Given the description of an element on the screen output the (x, y) to click on. 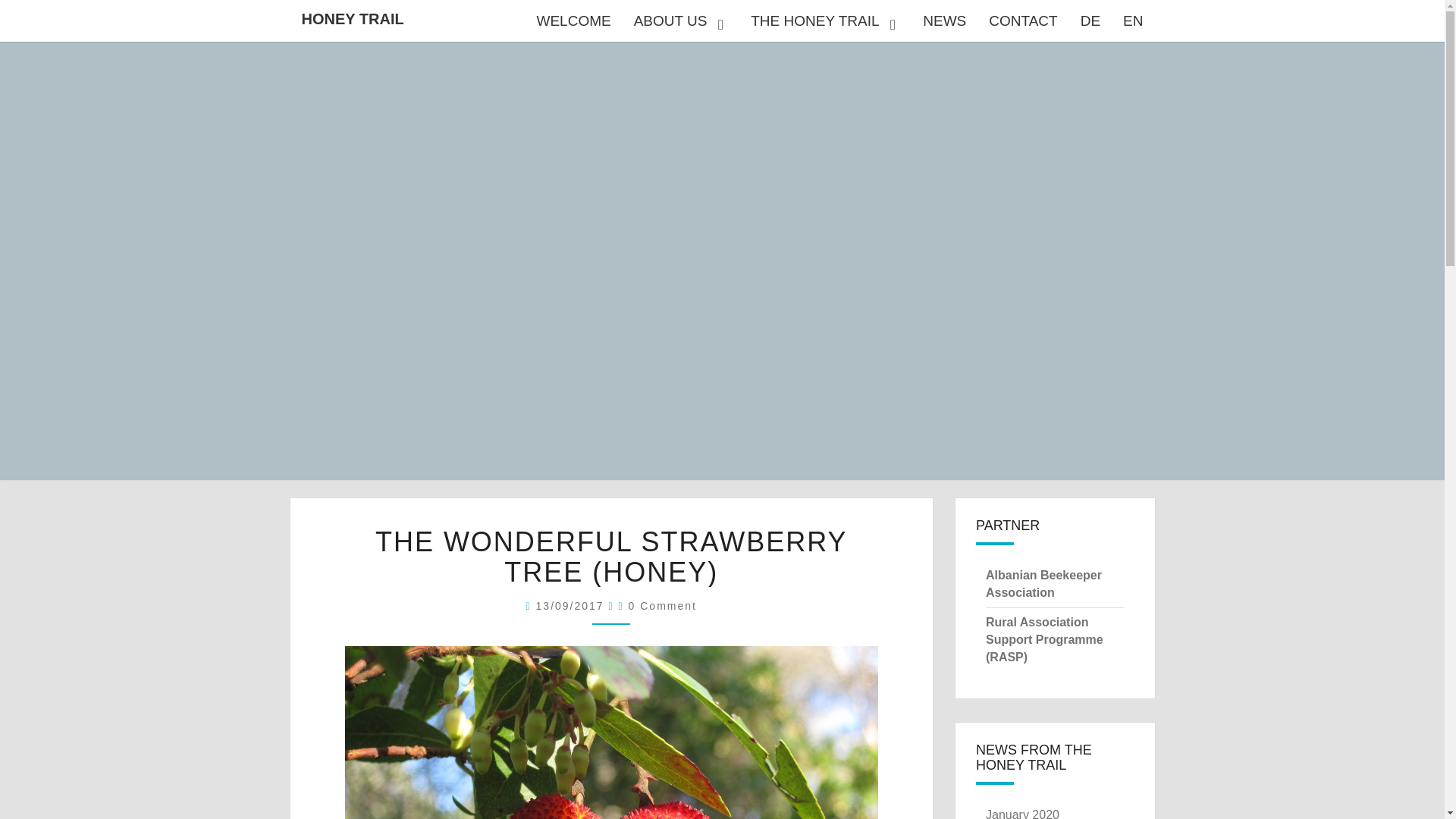
WELCOME (572, 20)
ABOUT US (681, 20)
NEWS (943, 20)
January 2020 (1022, 813)
DE (1090, 20)
0 Comment (662, 605)
THE HONEY TRAIL (825, 20)
Albanian Beekeeper Association (1043, 583)
CONTACT (1022, 20)
21:45 (571, 605)
HONEY TRAIL (351, 18)
EN (1133, 20)
